Given the description of an element on the screen output the (x, y) to click on. 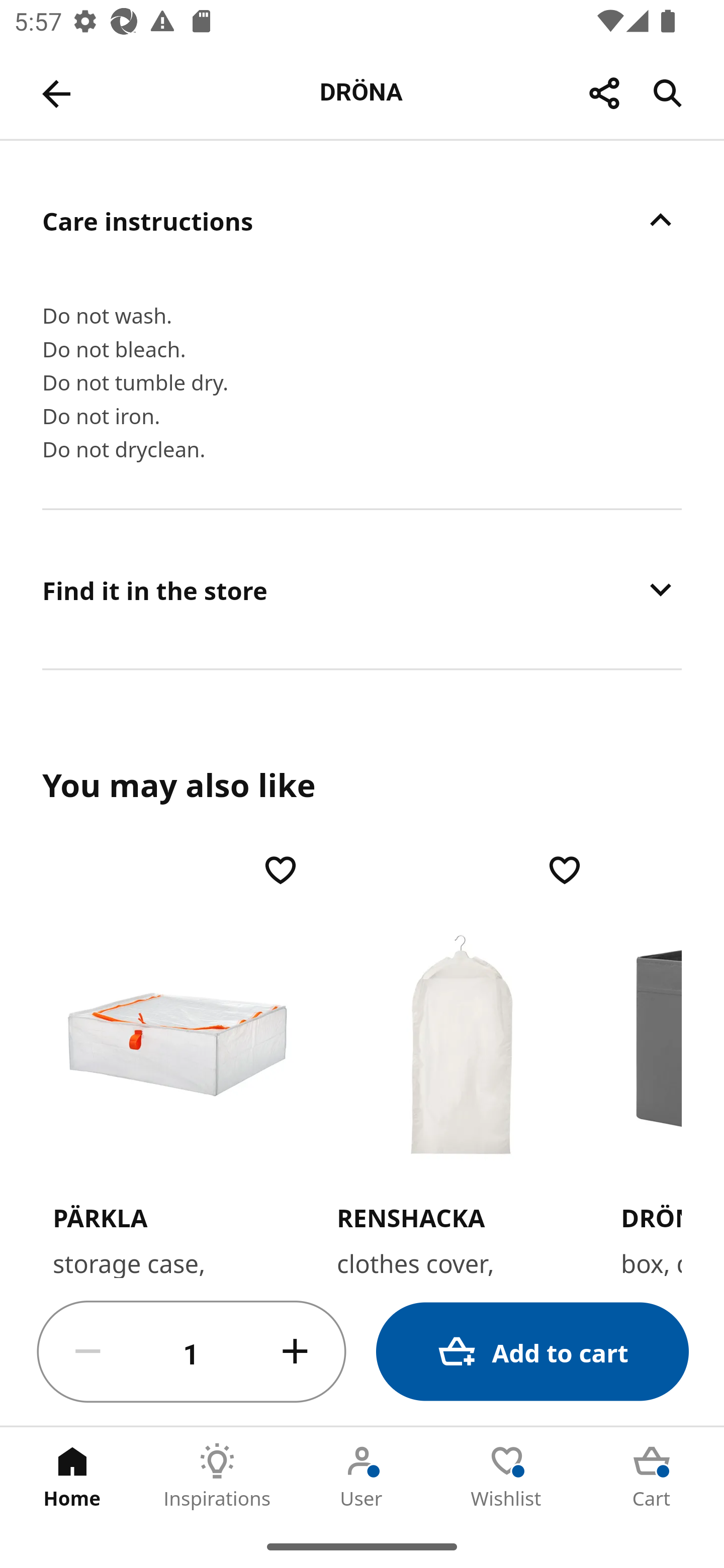
Care instructions (361, 219)
Find it in the store (361, 589)
​P​Ä​R​K​L​A​
storage case, 55x49x19 cm
$
19
.9 (176, 1063)
Add to cart (531, 1352)
1 (191, 1352)
Home
Tab 1 of 5 (72, 1476)
Inspirations
Tab 2 of 5 (216, 1476)
User
Tab 3 of 5 (361, 1476)
Wishlist
Tab 4 of 5 (506, 1476)
Cart
Tab 5 of 5 (651, 1476)
